Given the description of an element on the screen output the (x, y) to click on. 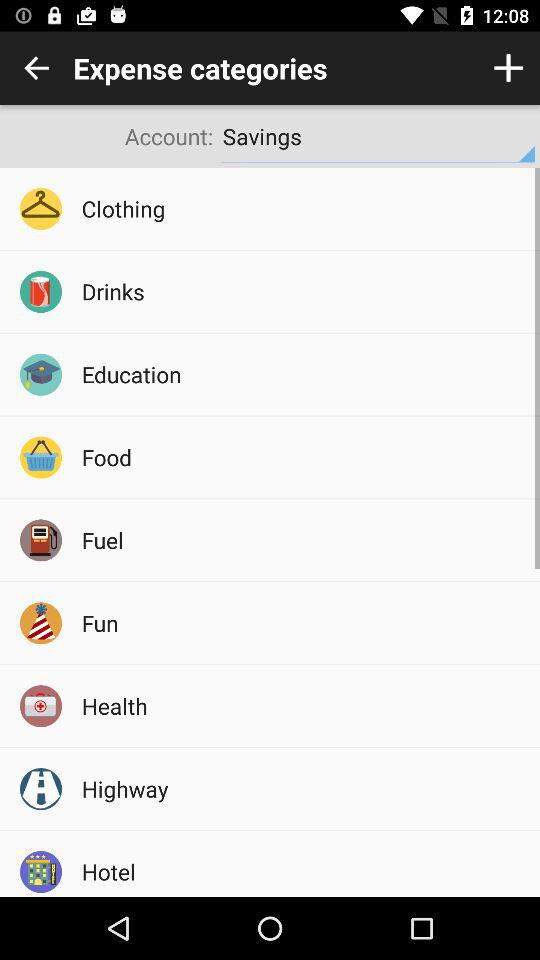
tap item below the food item (303, 540)
